Given the description of an element on the screen output the (x, y) to click on. 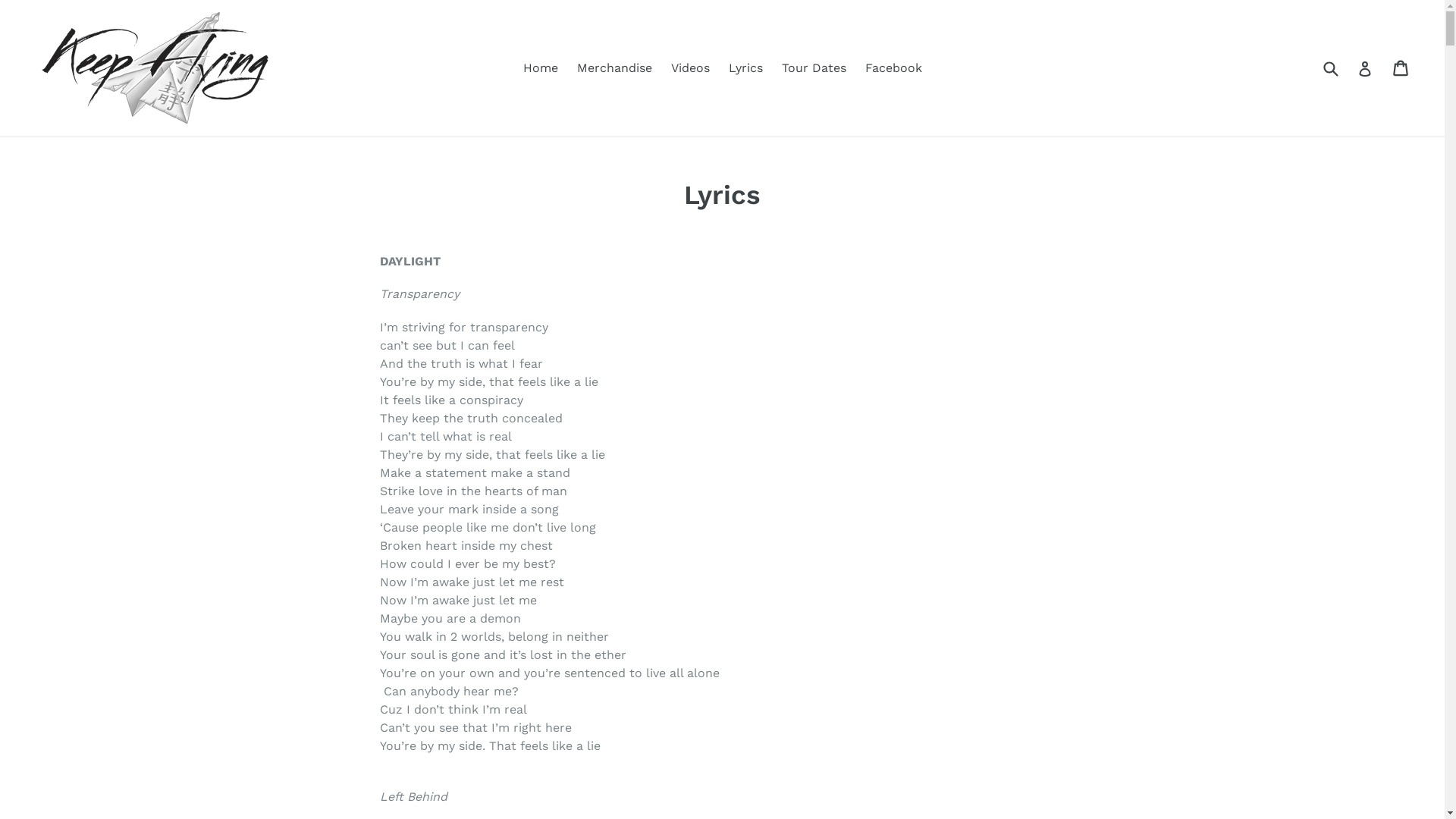
Facebook Element type: text (892, 67)
Cart
Cart Element type: text (1401, 67)
Home Element type: text (540, 67)
Log in Element type: text (1364, 68)
Videos Element type: text (689, 67)
Submit Element type: text (1329, 67)
Tour Dates Element type: text (813, 67)
Merchandise Element type: text (613, 67)
Lyrics Element type: text (744, 67)
